Given the description of an element on the screen output the (x, y) to click on. 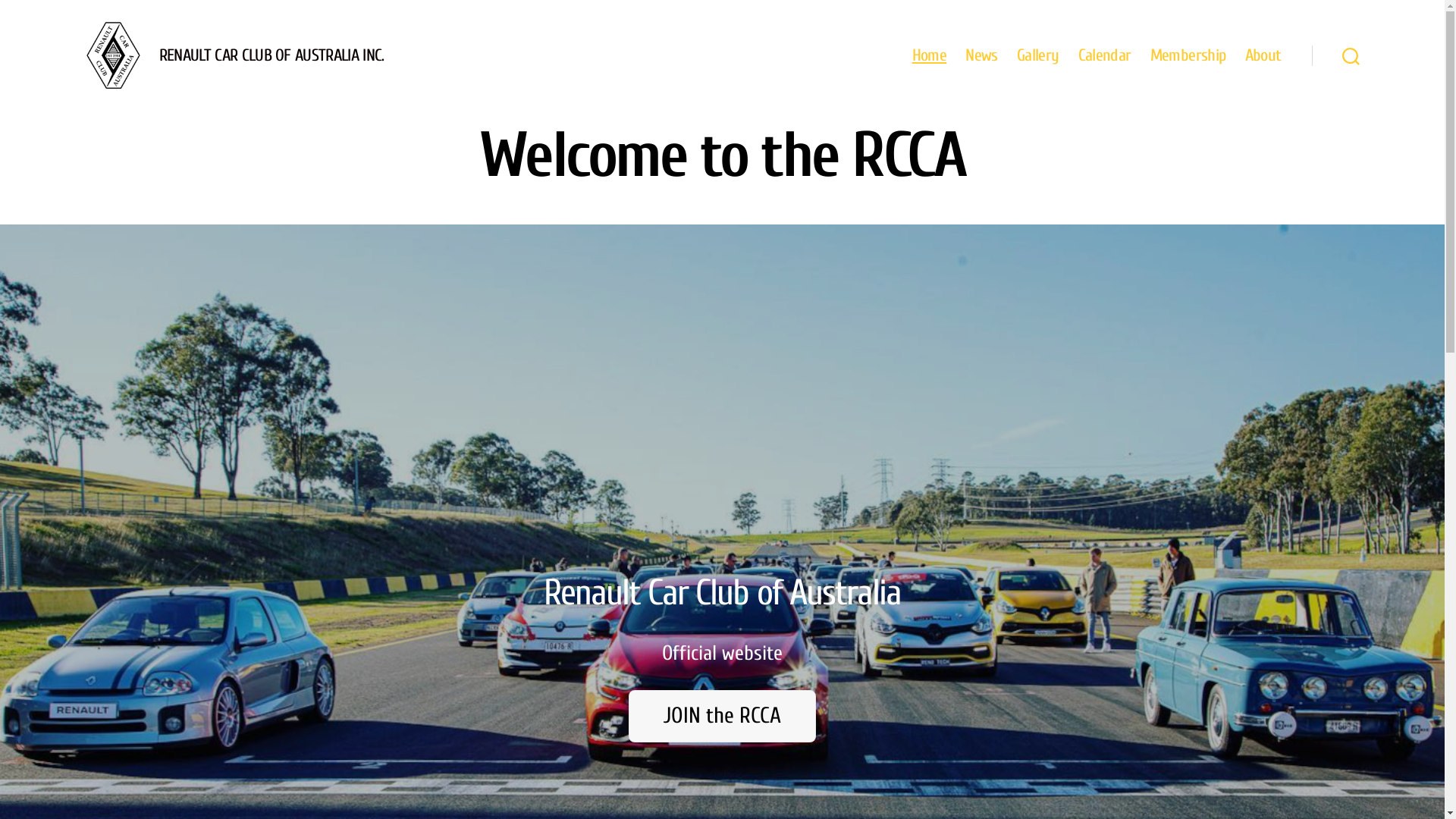
JOIN the RCCA Element type: text (722, 716)
Calendar Element type: text (1104, 55)
Gallery Element type: text (1037, 55)
Home Element type: text (929, 55)
News Element type: text (981, 55)
About Element type: text (1263, 55)
Membership Element type: text (1188, 55)
